Given the description of an element on the screen output the (x, y) to click on. 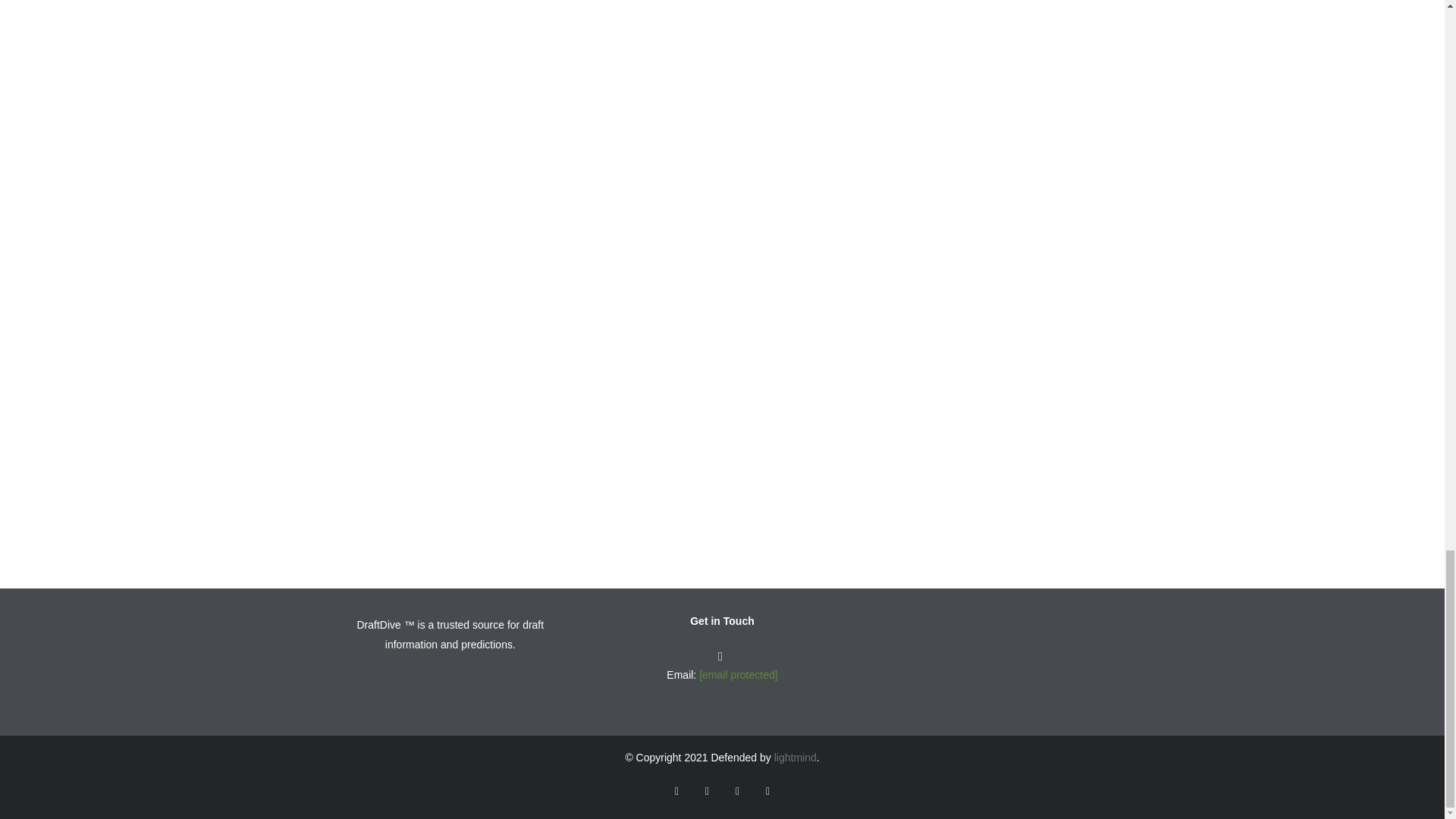
Follow on Instagram (737, 791)
Follow on Facebook (706, 791)
RSS (767, 791)
Follow on Twitter (676, 791)
